Given the description of an element on the screen output the (x, y) to click on. 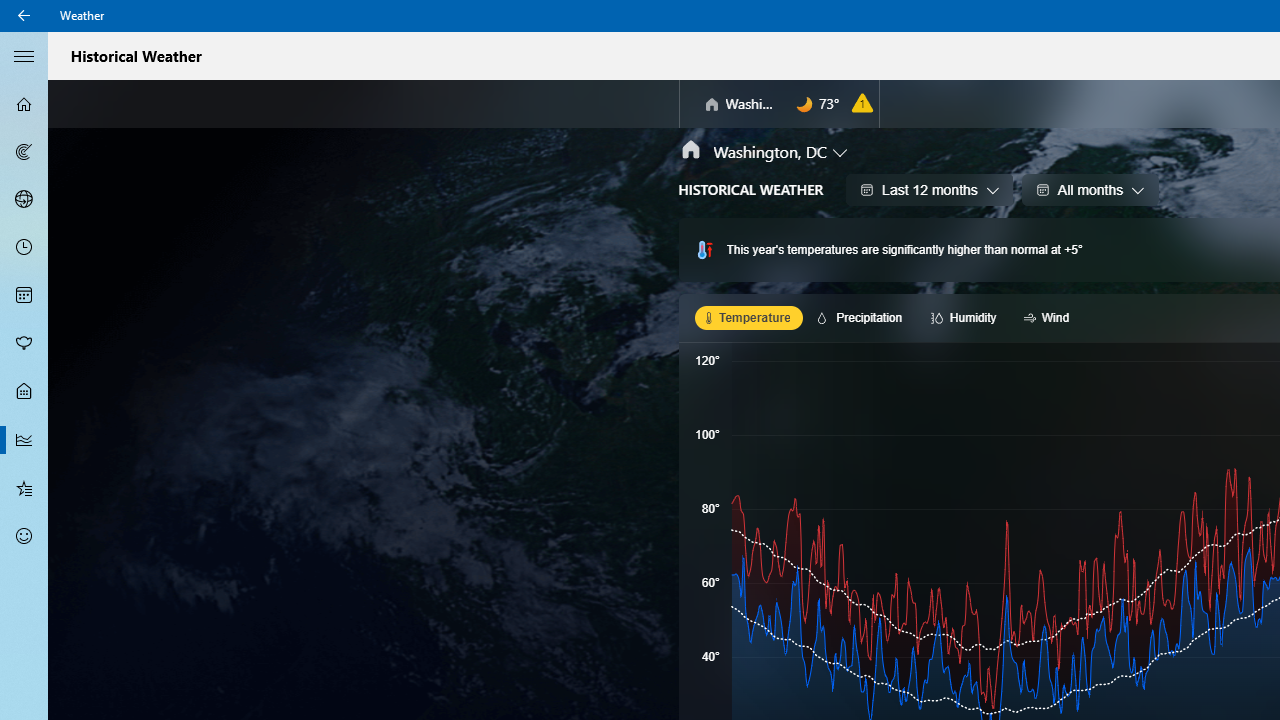
Pollen - Not Selected (24, 343)
Maps - Not Selected (24, 151)
Send Feedback - Not Selected (24, 535)
Hourly Forecast - Not Selected (24, 247)
3D Maps - Not Selected (24, 199)
Life - Not Selected (24, 391)
Collapse Navigation (24, 55)
Forecast - Not Selected (24, 103)
Favorites - Not Selected (24, 487)
Maps - Not Selected (24, 151)
3D Maps - Not Selected (24, 199)
Historical Weather - Not Selected (24, 439)
Monthly Forecast - Not Selected (24, 295)
Life - Not Selected (24, 391)
Favorites - Not Selected (24, 487)
